Given the description of an element on the screen output the (x, y) to click on. 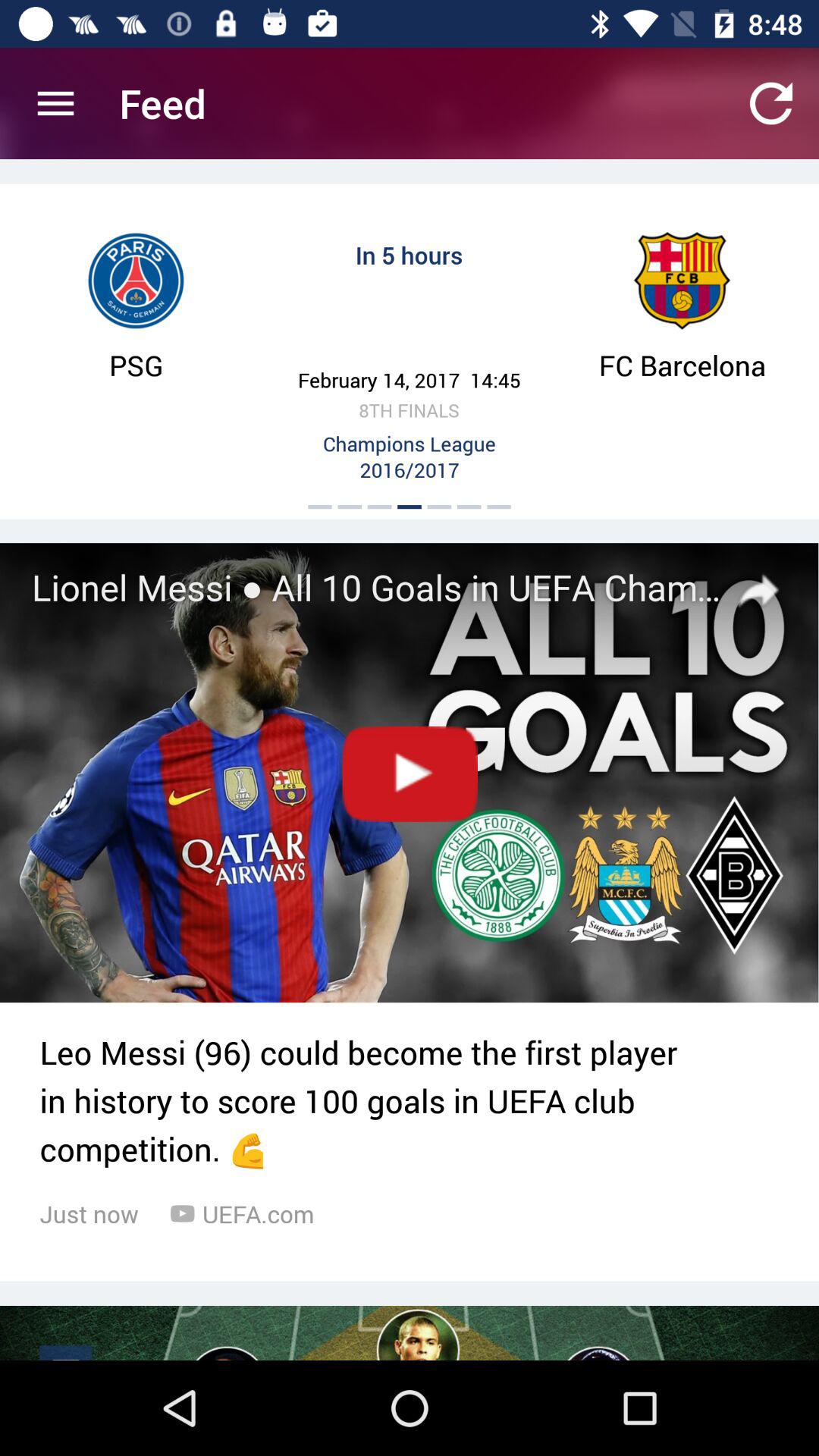
click on the image above pgs (135, 280)
select the icon which is top right corner (771, 103)
